Given the description of an element on the screen output the (x, y) to click on. 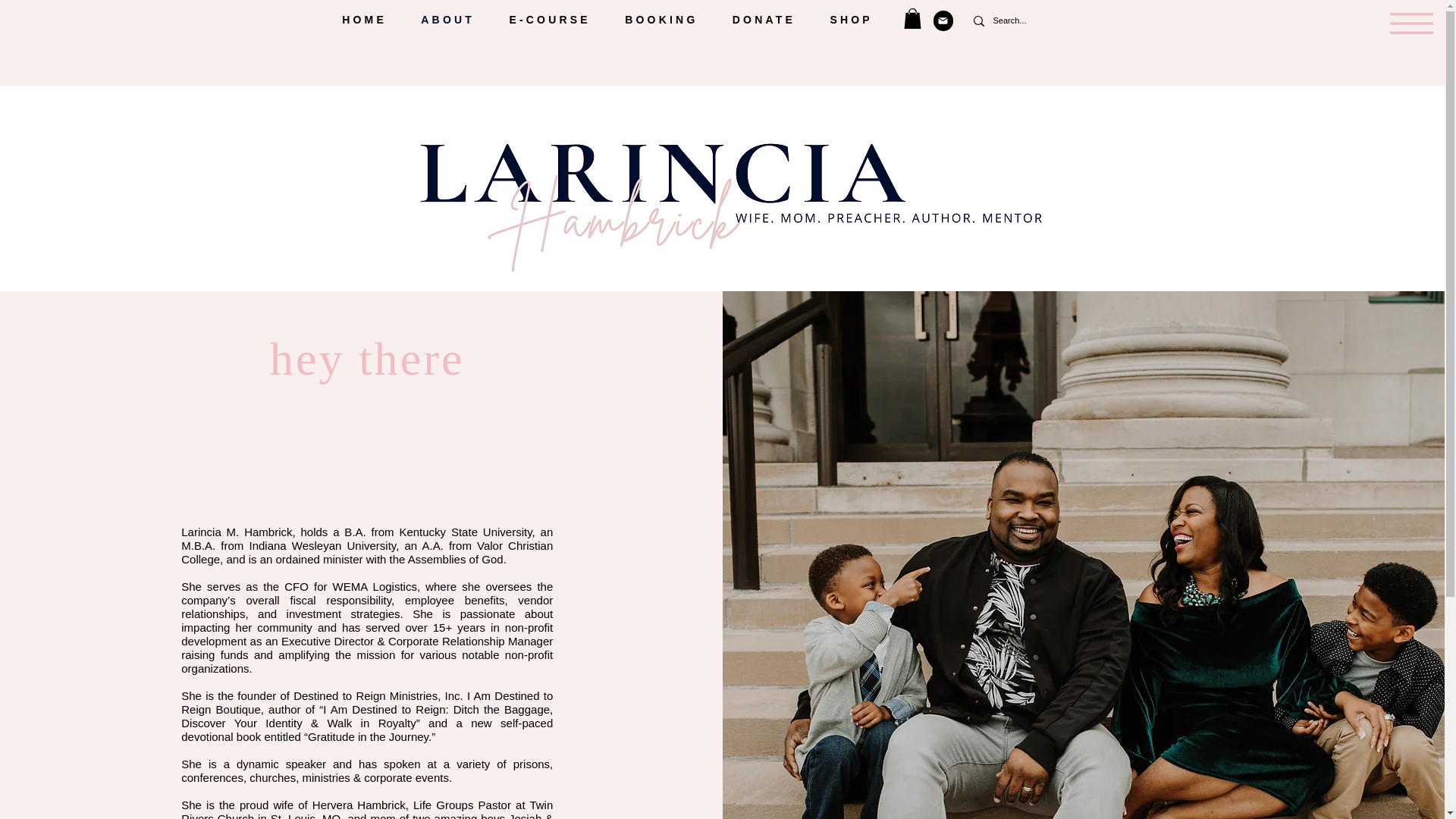
E-COURSE (550, 19)
ABOUT (448, 19)
DONATE (763, 19)
HOME (363, 19)
BOOKING (662, 19)
SHOP (850, 19)
